Given the description of an element on the screen output the (x, y) to click on. 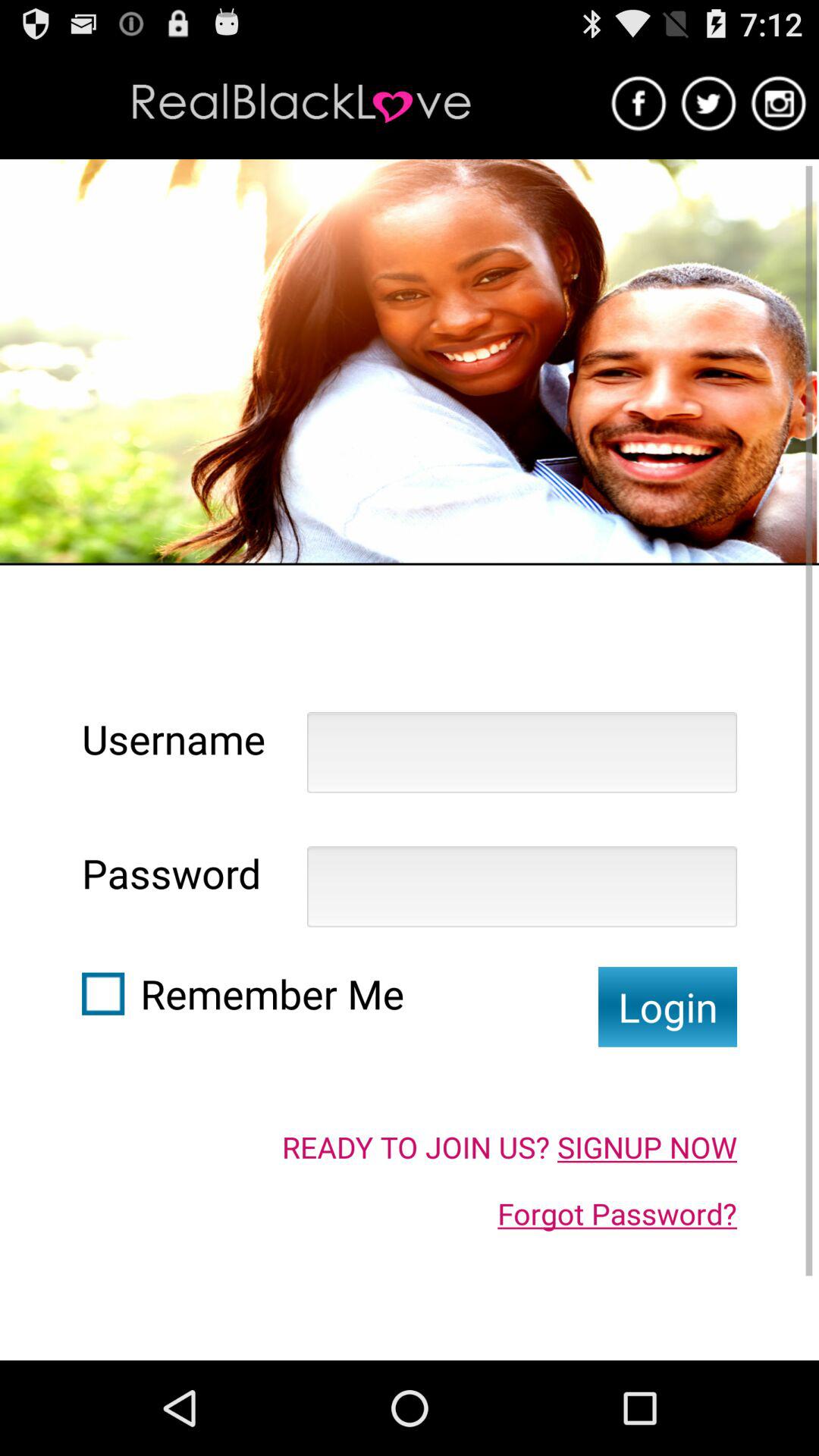
turn off the app above the forgot password? app (509, 1147)
